Given the description of an element on the screen output the (x, y) to click on. 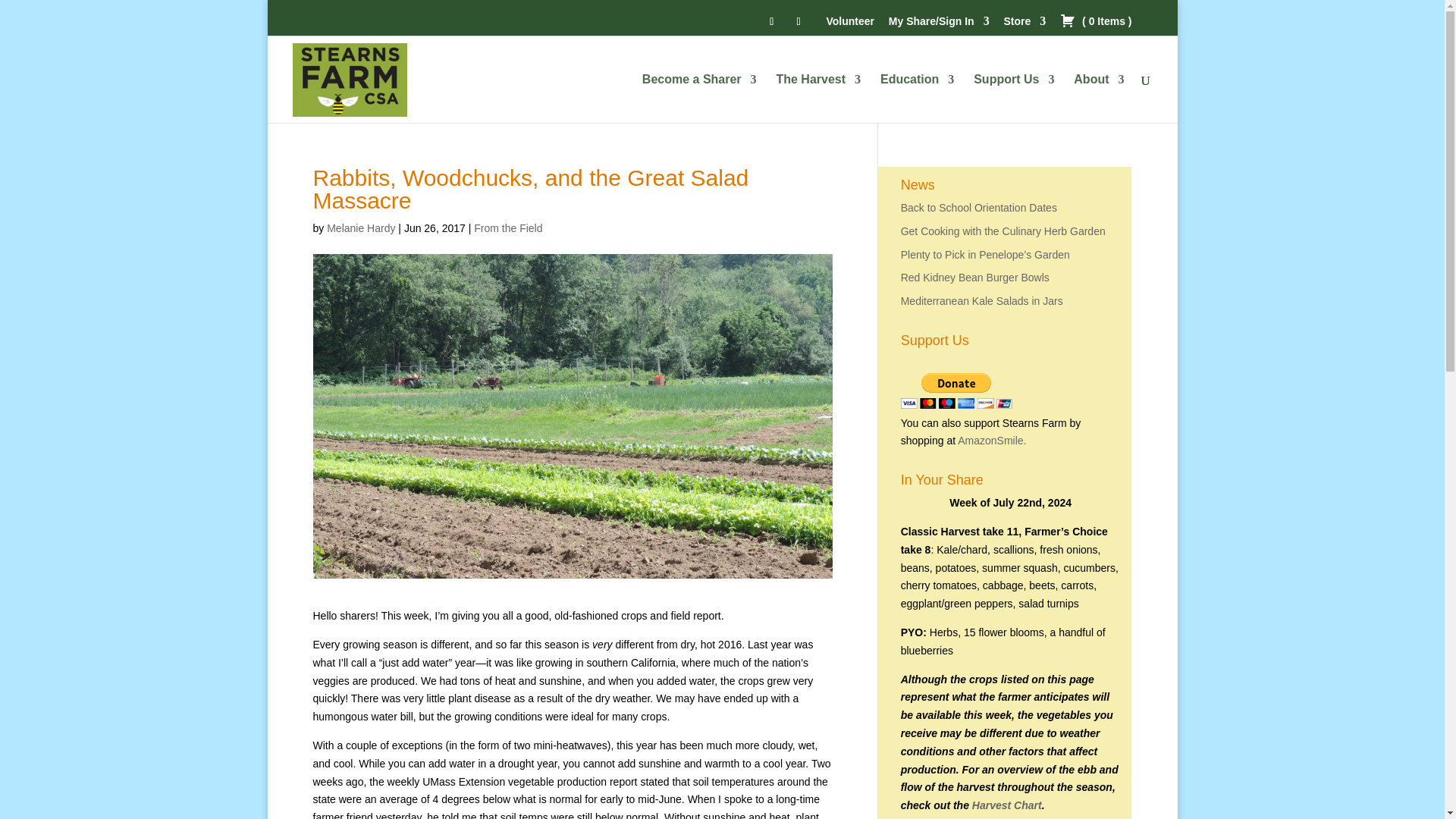
Volunteer (850, 25)
The Harvest (818, 98)
Education (916, 98)
Posts by Melanie Hardy (360, 227)
Store (1025, 25)
Become a Sharer (699, 98)
